Given the description of an element on the screen output the (x, y) to click on. 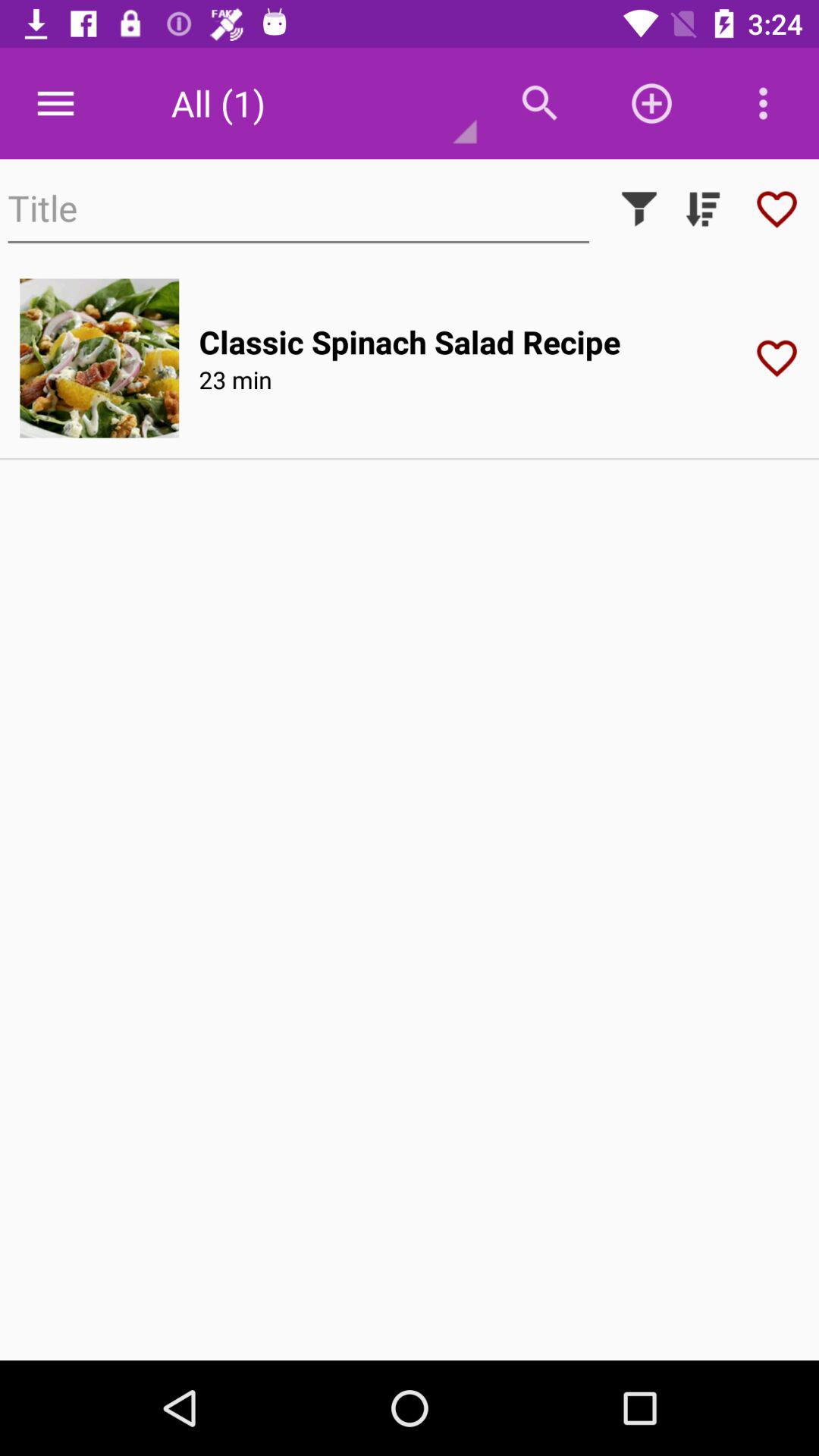
show all recipes (702, 208)
